Given the description of an element on the screen output the (x, y) to click on. 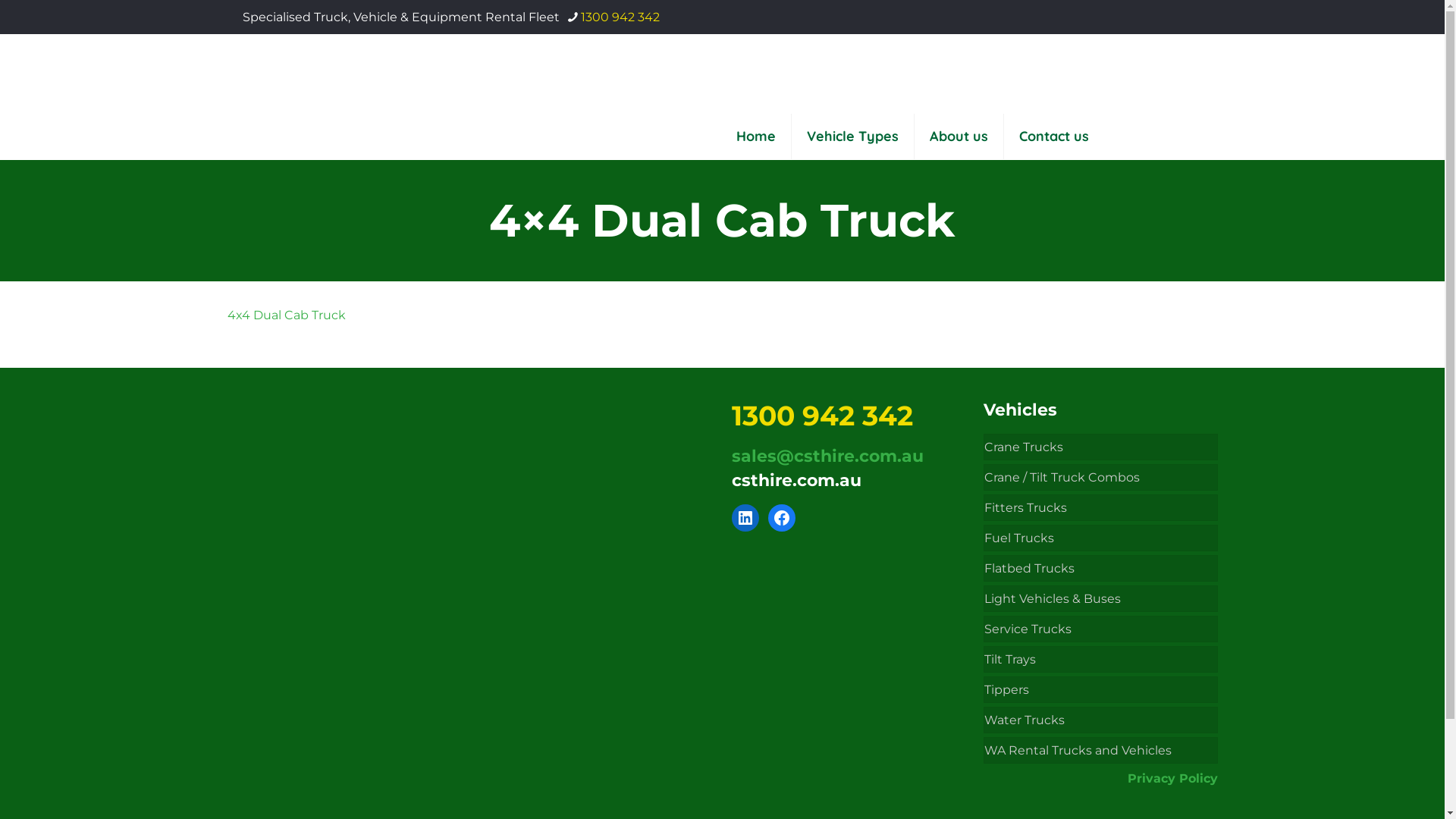
Service Trucks Element type: text (1100, 628)
# Element type: text (744, 517)
Crane / Tilt Truck Combos Element type: text (1100, 477)
Fuel Trucks Element type: text (1100, 537)
Tilt Trays Element type: text (1100, 659)
Light Vehicles & Buses Element type: text (1100, 598)
4x4 Dual Cab Truck Element type: text (286, 314)
Home Element type: text (755, 136)
About us Element type: text (959, 136)
Water Trucks Element type: text (1100, 719)
sales@csthire.com.au Element type: text (826, 455)
CST Hire Element type: hover (250, 73)
Tippers Element type: text (1100, 689)
Vehicle Types Element type: text (852, 136)
Crane Trucks Element type: text (1100, 446)
WA Rental Trucks and Vehicles Element type: text (1100, 750)
Fitters Trucks Element type: text (1100, 507)
Privacy Policy Element type: text (1171, 778)
# Element type: text (780, 517)
1300 942 342 Element type: text (619, 16)
Contact us Element type: text (1054, 136)
Flatbed Trucks Element type: text (1100, 568)
